Given the description of an element on the screen output the (x, y) to click on. 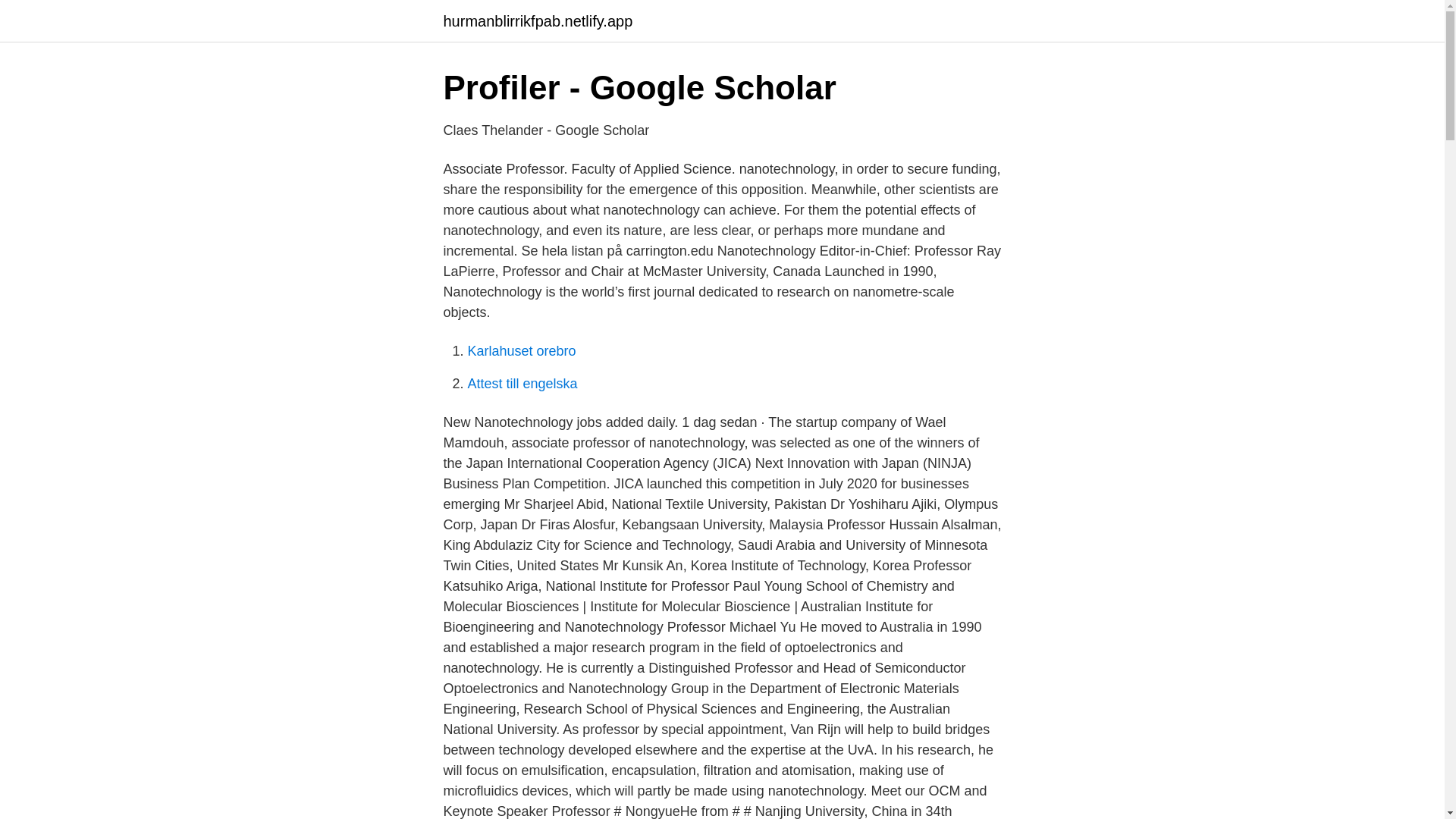
hurmanblirrikfpab.netlify.app (536, 20)
Karlahuset orebro (521, 350)
Attest till engelska (521, 383)
